Given the description of an element on the screen output the (x, y) to click on. 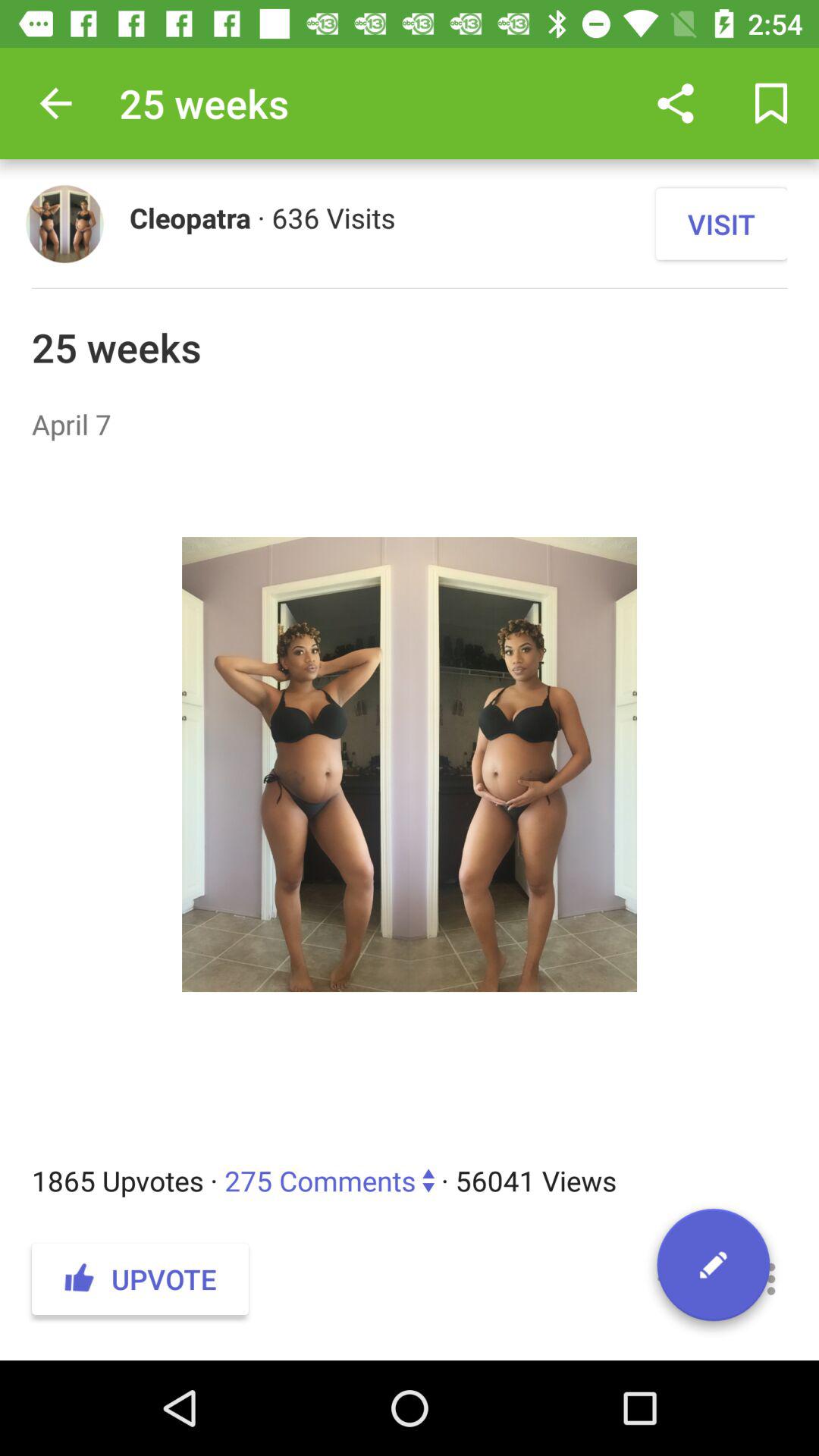
choose icon below the 1865 upvotes 275 (675, 1278)
